Given the description of an element on the screen output the (x, y) to click on. 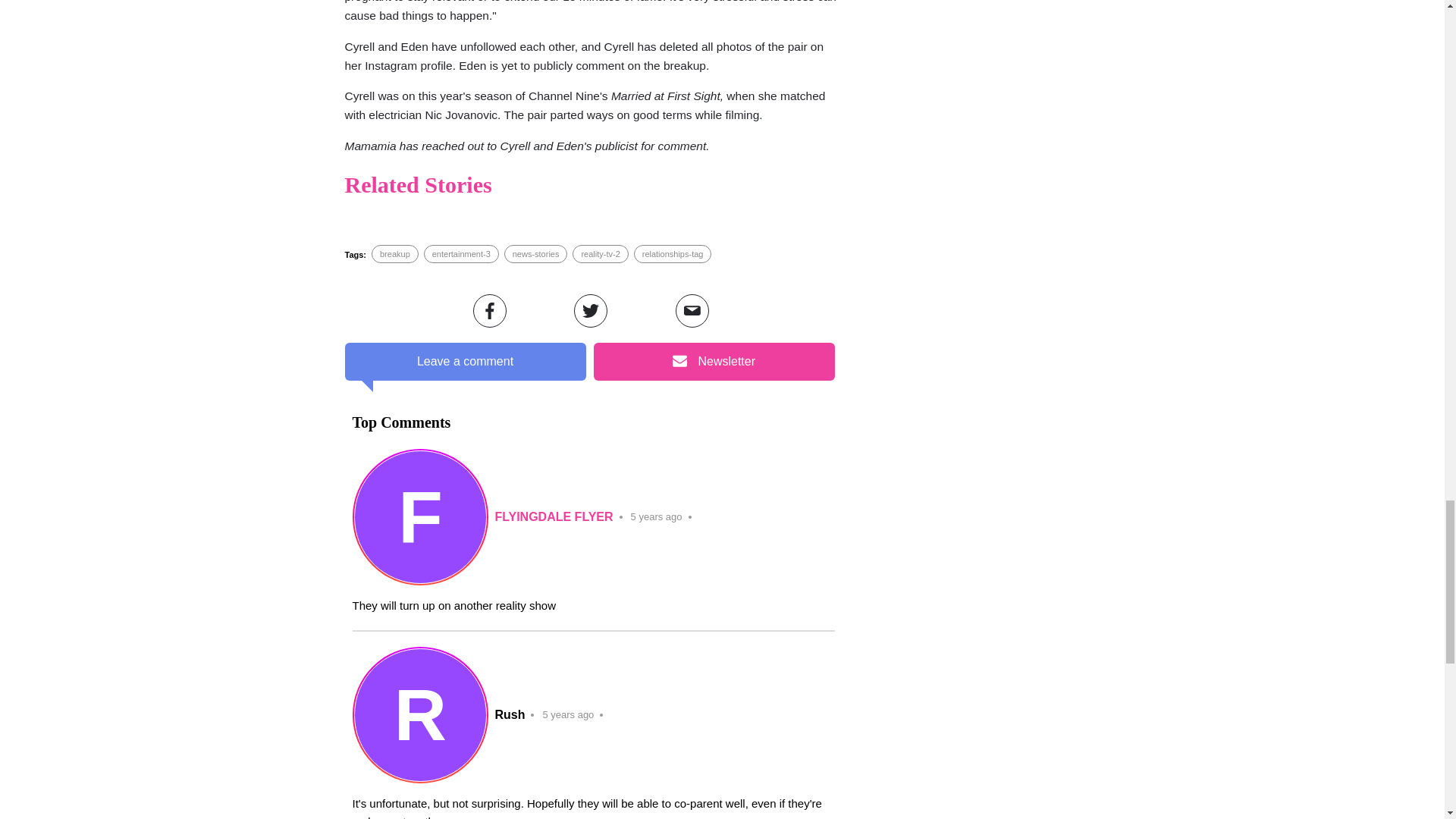
relationships-tag (672, 253)
Share via twitter (590, 310)
news-stories (535, 253)
Newsletter (713, 361)
Share via facebook (489, 310)
entertainment-3 (461, 253)
reality-tv-2 (600, 253)
Share via e-mail (692, 310)
FLYINGDALE FLYER (553, 516)
breakup (395, 253)
